Given the description of an element on the screen output the (x, y) to click on. 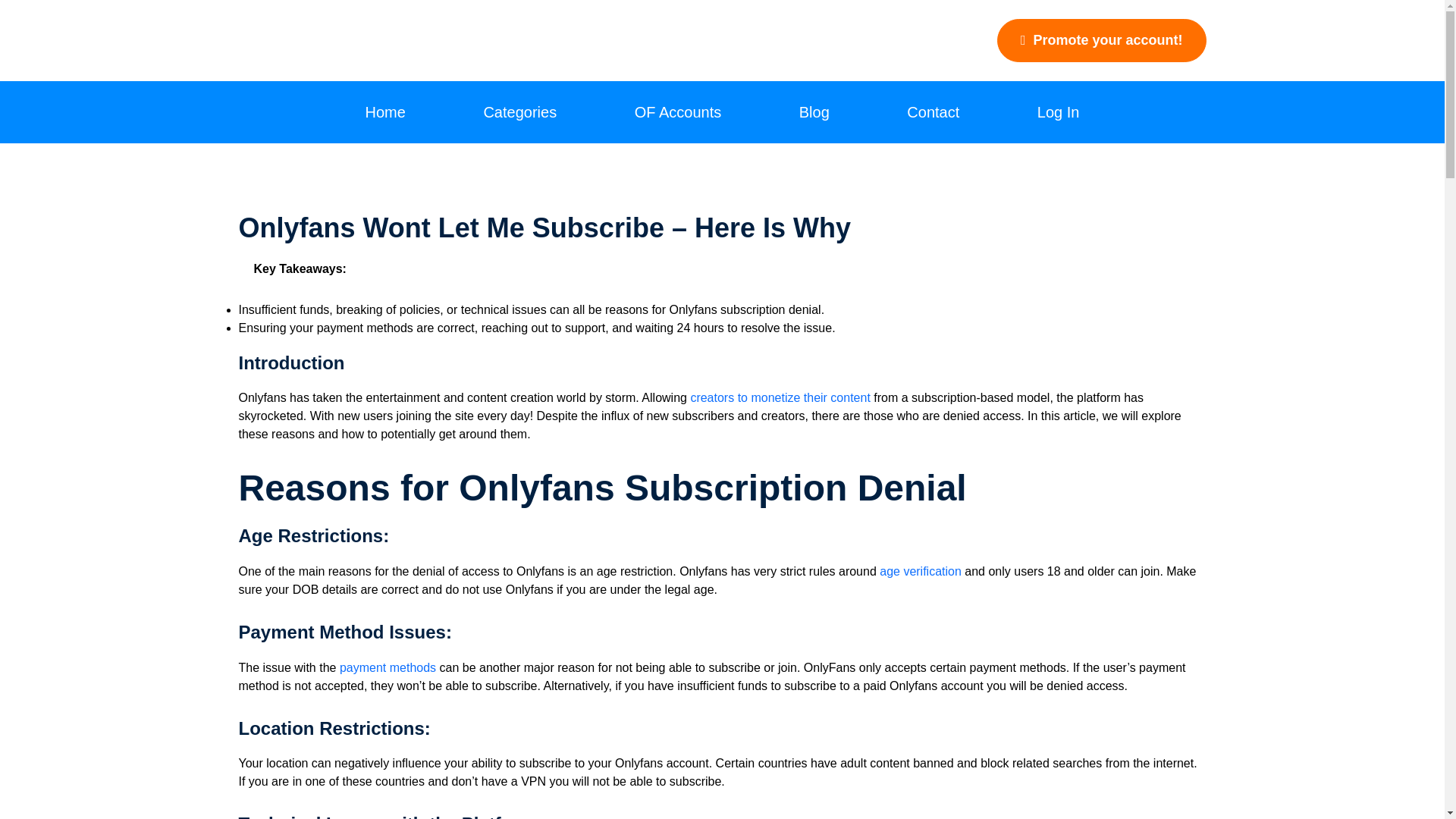
payment methods (387, 667)
Categories (519, 112)
Log In (1058, 112)
Contact (933, 112)
creators to monetize their content (779, 397)
Home (385, 112)
age verification (919, 571)
Blog (814, 112)
OF Accounts (678, 112)
 Promote your account! (1102, 40)
